Given the description of an element on the screen output the (x, y) to click on. 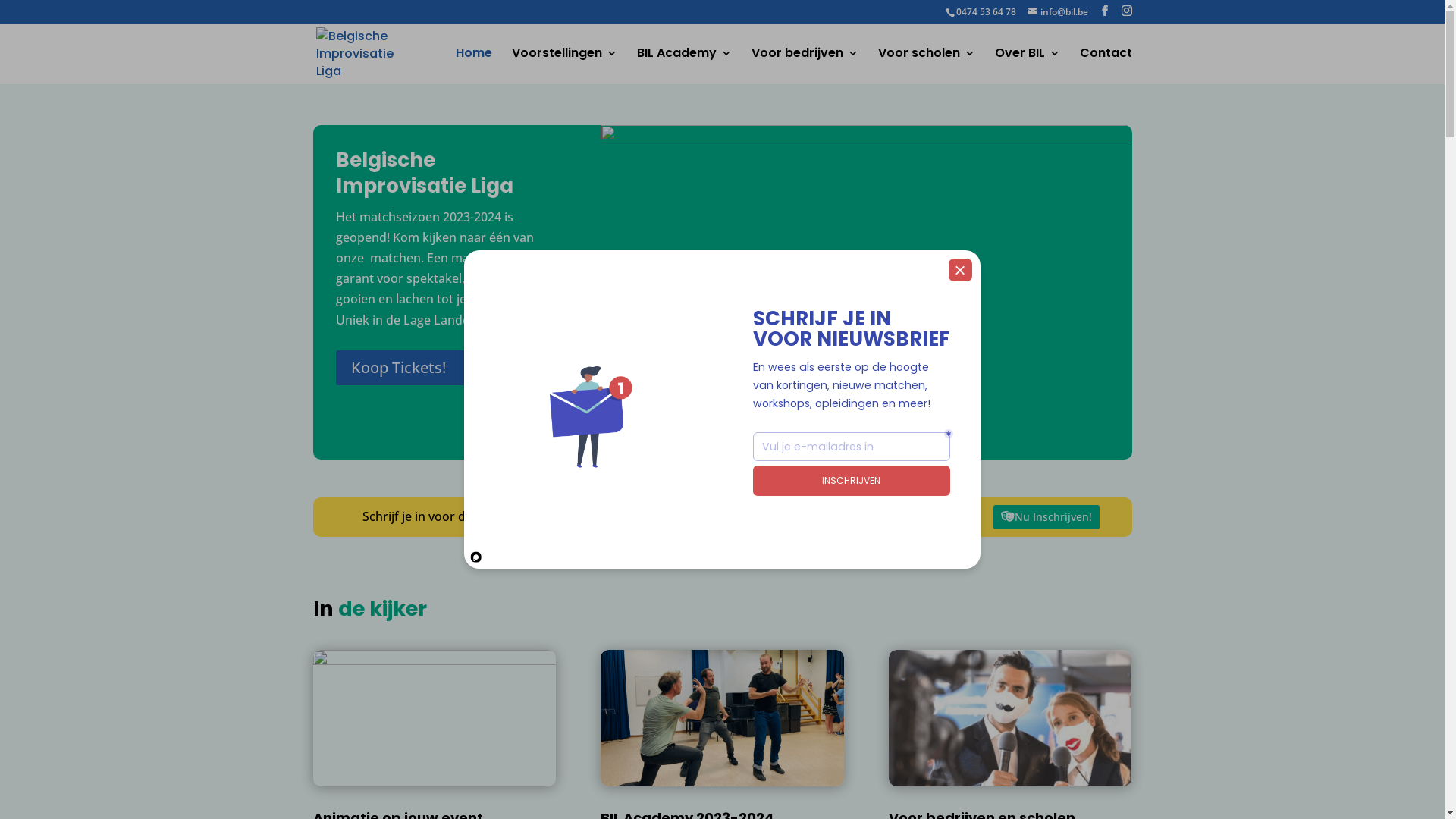
Home Element type: text (473, 65)
Koop Tickets! Element type: text (410, 367)
Voorstellingen Element type: text (563, 65)
Nu Inschrijven! Element type: text (1046, 517)
BIL Academy Element type: text (684, 65)
Naamloos Element type: hover (865, 292)
Voor scholen Element type: text (926, 65)
Contact Element type: text (1105, 65)
Over BIL Element type: text (1027, 65)
Voor bedrijven Element type: text (803, 65)
info@bil.be Element type: text (1058, 11)
